Given the description of an element on the screen output the (x, y) to click on. 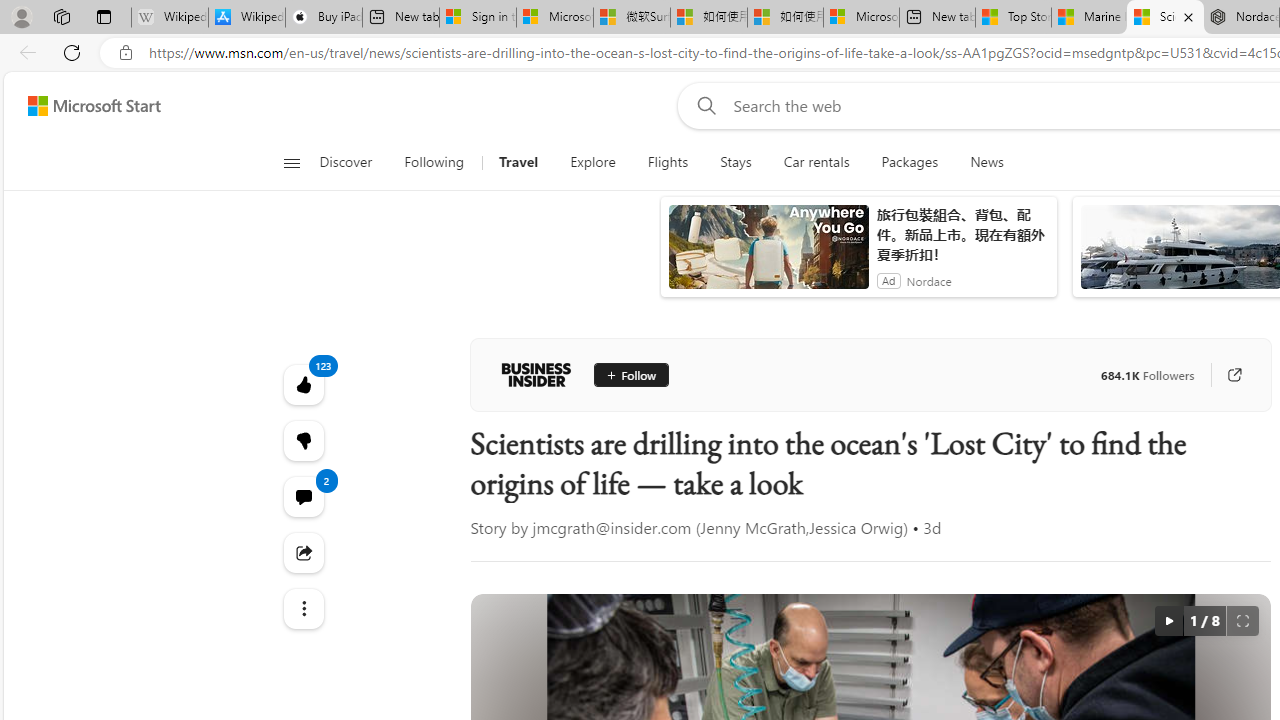
Share this story (302, 552)
Explore (592, 162)
Car rentals (816, 162)
autorotate button (1168, 620)
Packages (909, 162)
123 Like (302, 384)
Business Insider (536, 374)
